Given the description of an element on the screen output the (x, y) to click on. 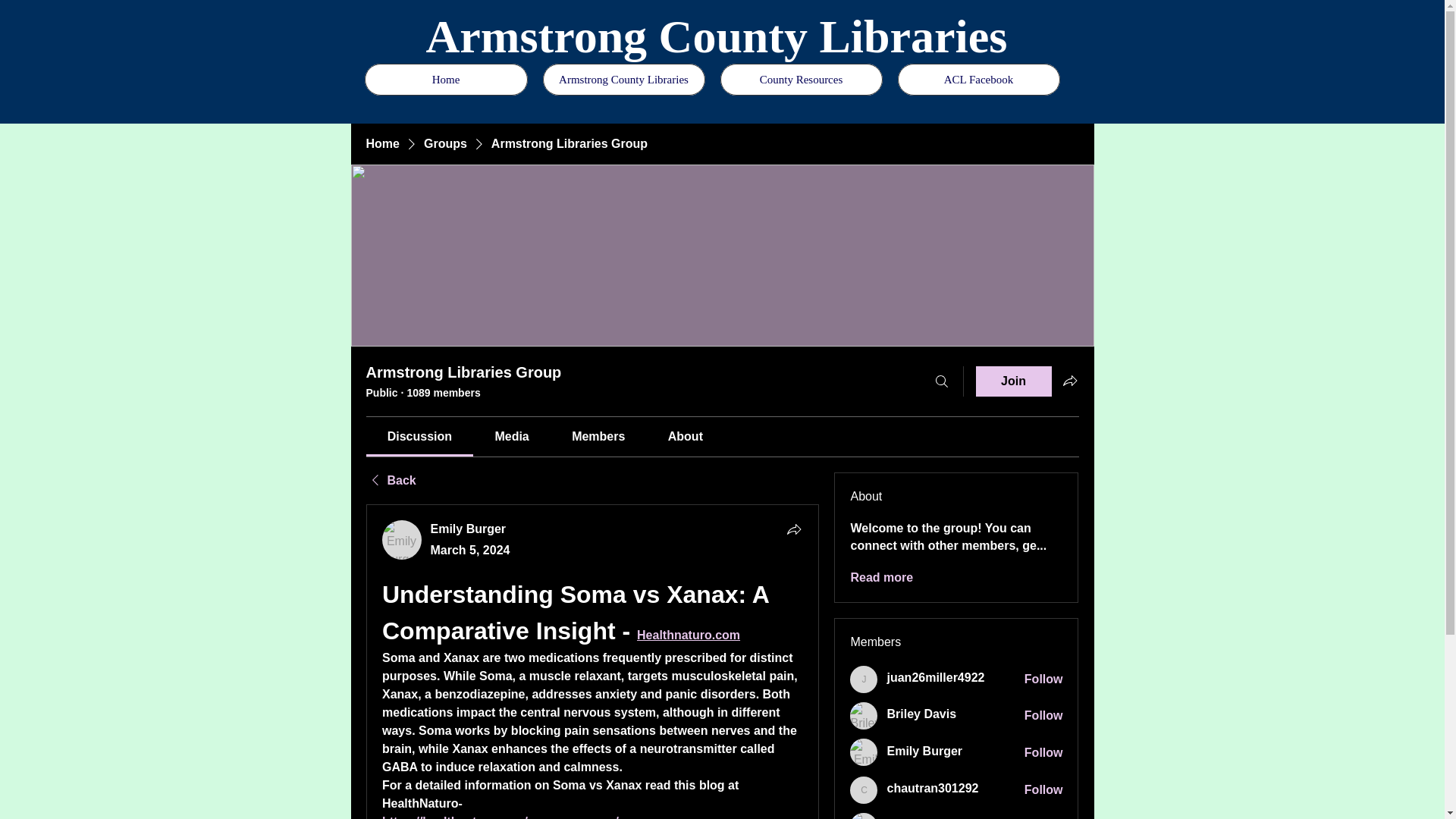
juan26miller4922 (935, 677)
County Resources (801, 79)
Follow (1043, 752)
Home (445, 79)
Groups (445, 143)
chautran301292 (932, 788)
Emily Burger (401, 539)
juan26miller4922 (935, 677)
Back (389, 480)
Emily Burger (468, 528)
